Given the description of an element on the screen output the (x, y) to click on. 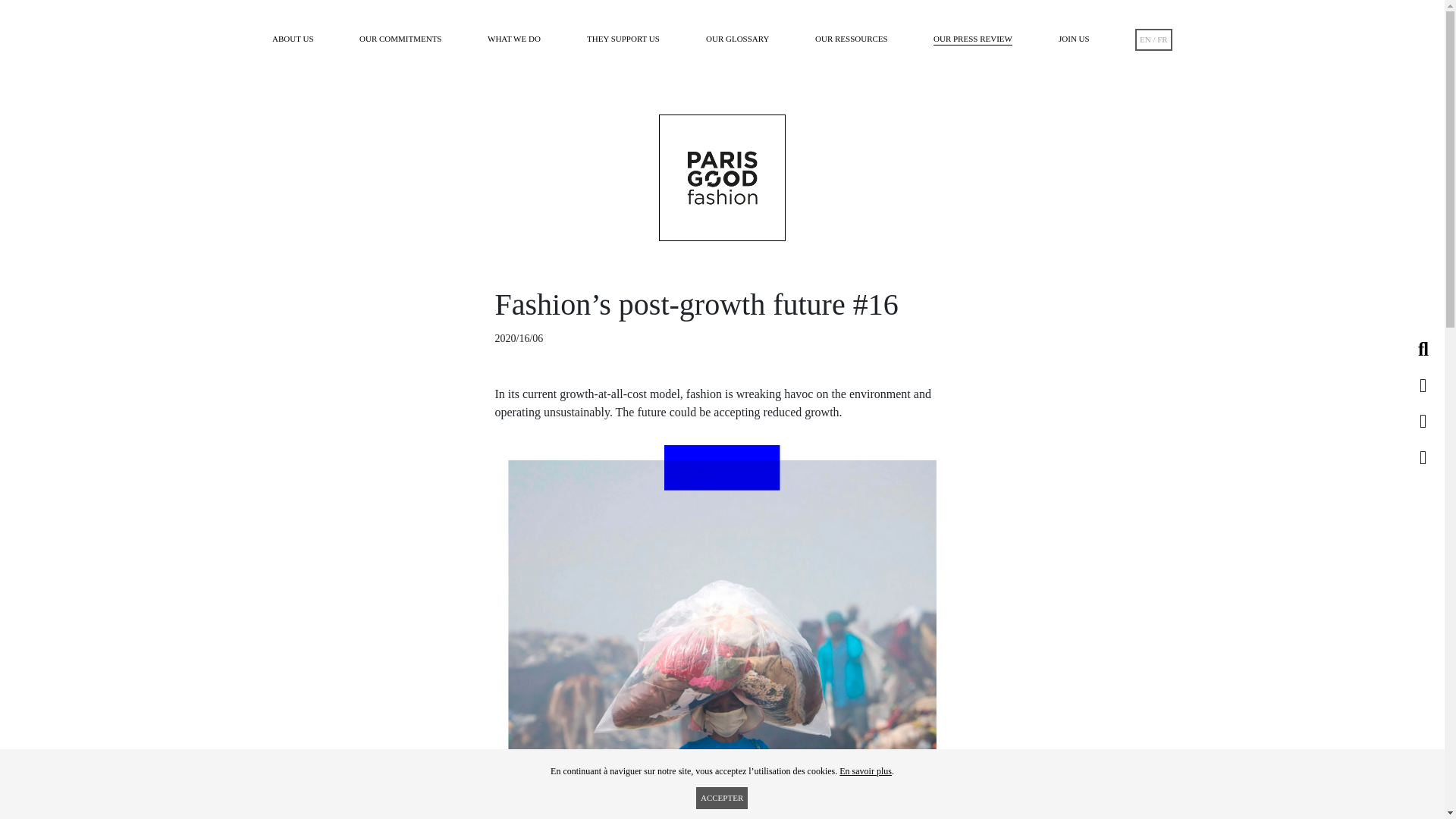
OUR RESSOURCES (851, 38)
OUR COMMITMENTS (400, 38)
THEY SUPPORT US (622, 38)
OUR GLOSSARY (737, 38)
OUR PRESS REVIEW (972, 38)
JOIN US (1073, 38)
WHAT WE DO (513, 38)
ABOUT US (293, 38)
